Given the description of an element on the screen output the (x, y) to click on. 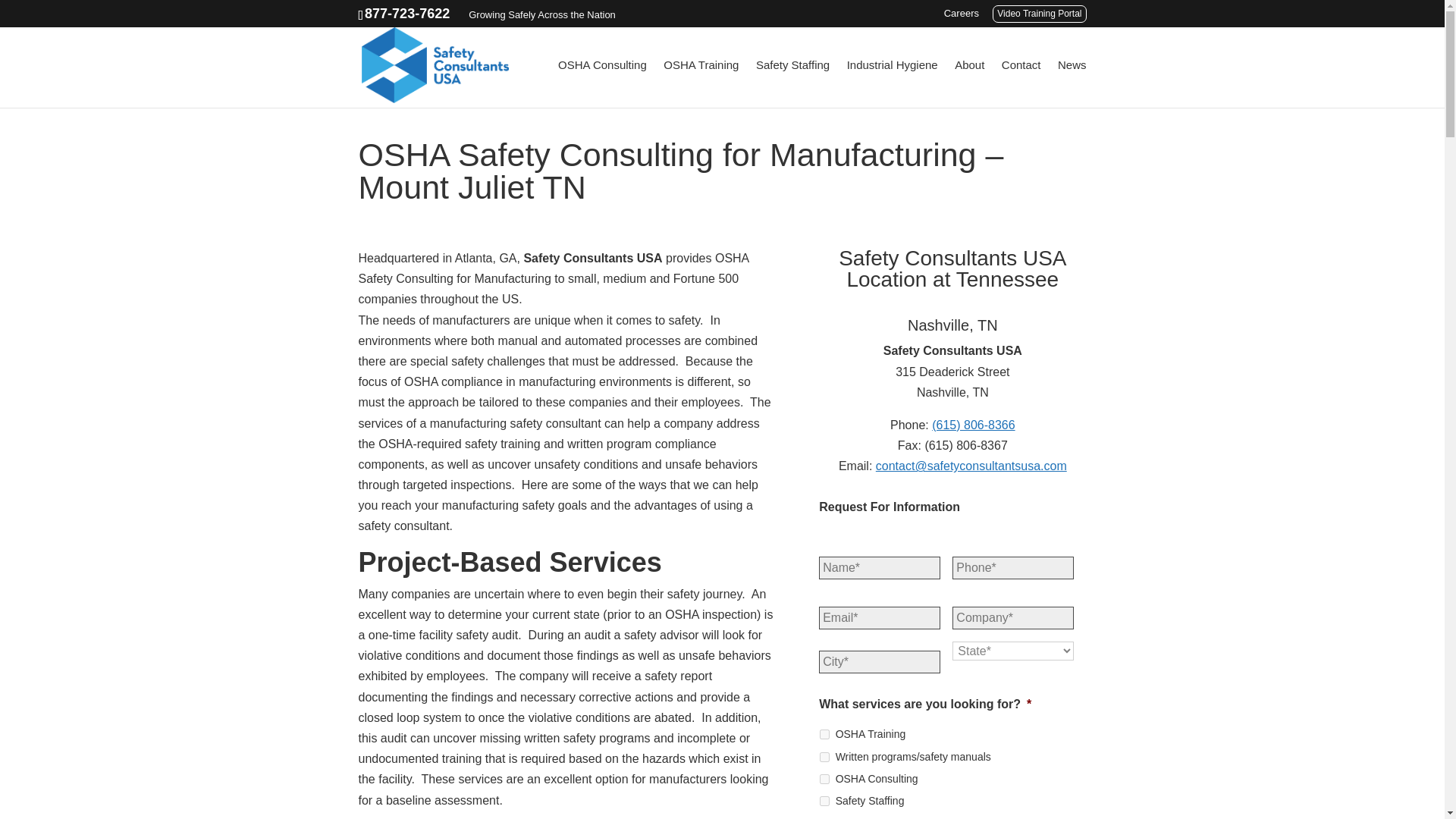
Video Training Portal (1039, 13)
OSHA Training (700, 83)
Careers (960, 17)
OSHA Consulting (601, 83)
OSHA Training (824, 734)
Industrial Hygiene (892, 83)
877-723-7622 (407, 13)
OSHA Consulting (824, 778)
Safety Staffing (792, 83)
Safety Staffing (824, 800)
